Given the description of an element on the screen output the (x, y) to click on. 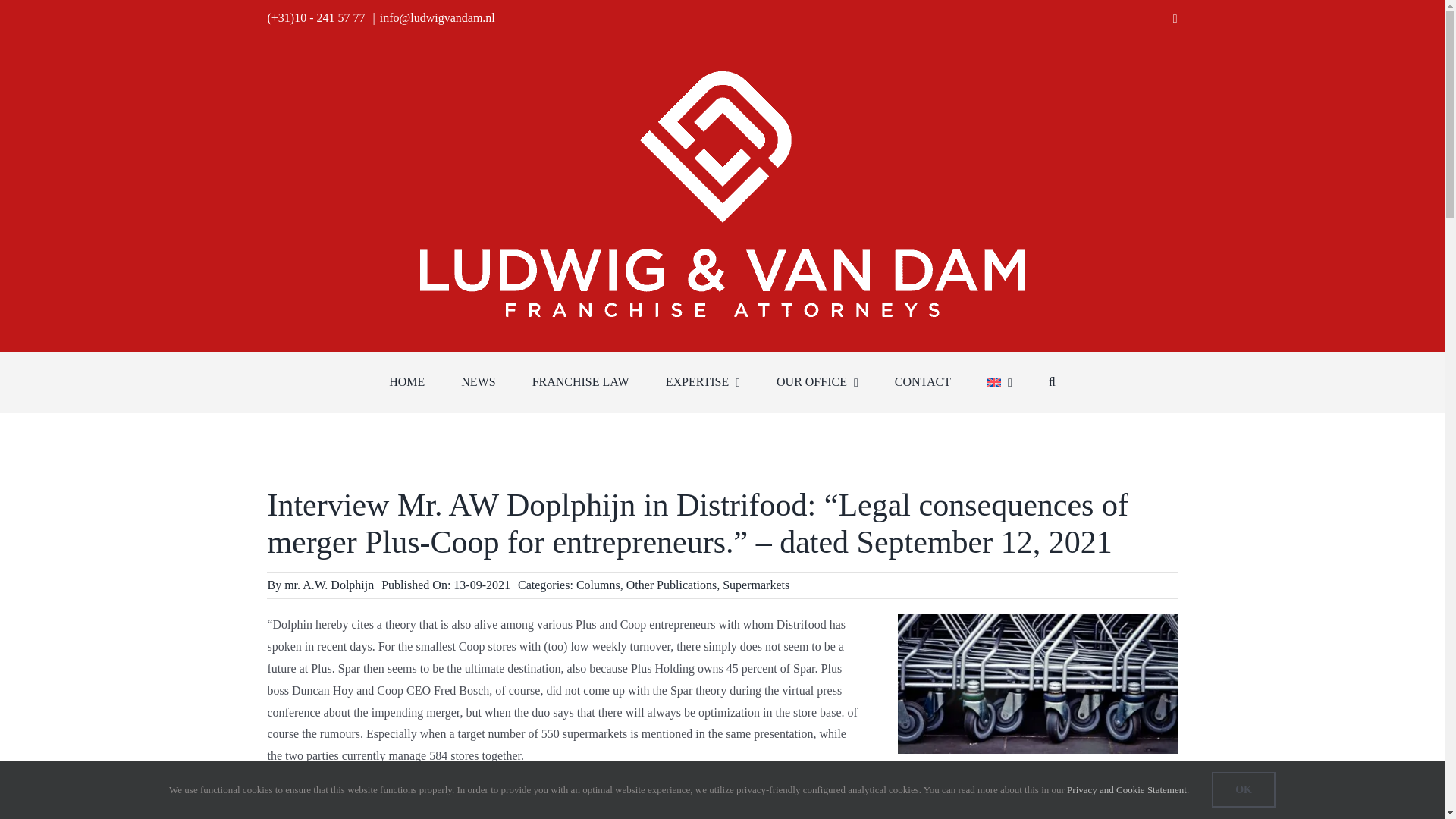
Posts by mr. A.W. Dolphijn (328, 584)
EXPERTISE (702, 382)
CONTACT (922, 382)
OUR OFFICE (817, 382)
FRANCHISE LAW (580, 382)
223carts-one-min (1037, 683)
